Given the description of an element on the screen output the (x, y) to click on. 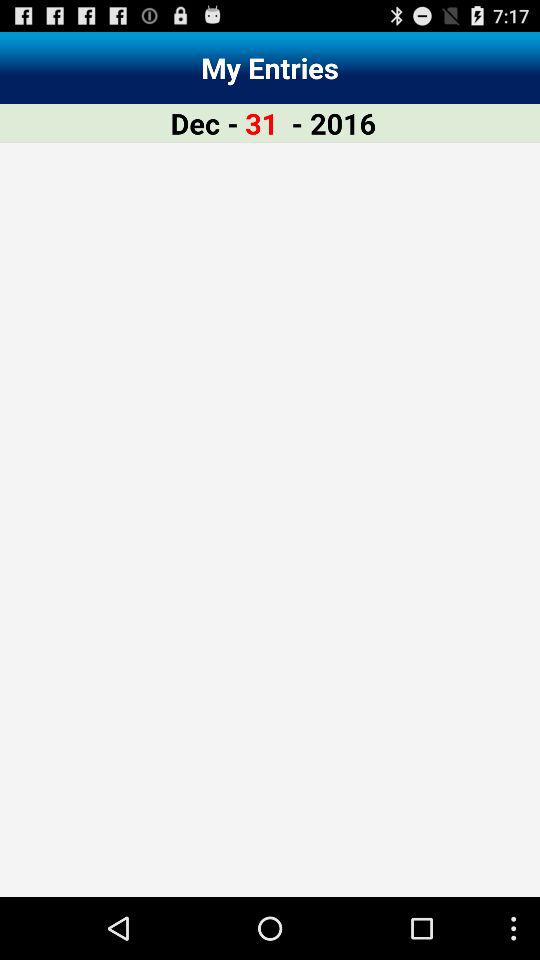
scroll until - 2016 app (333, 122)
